Given the description of an element on the screen output the (x, y) to click on. 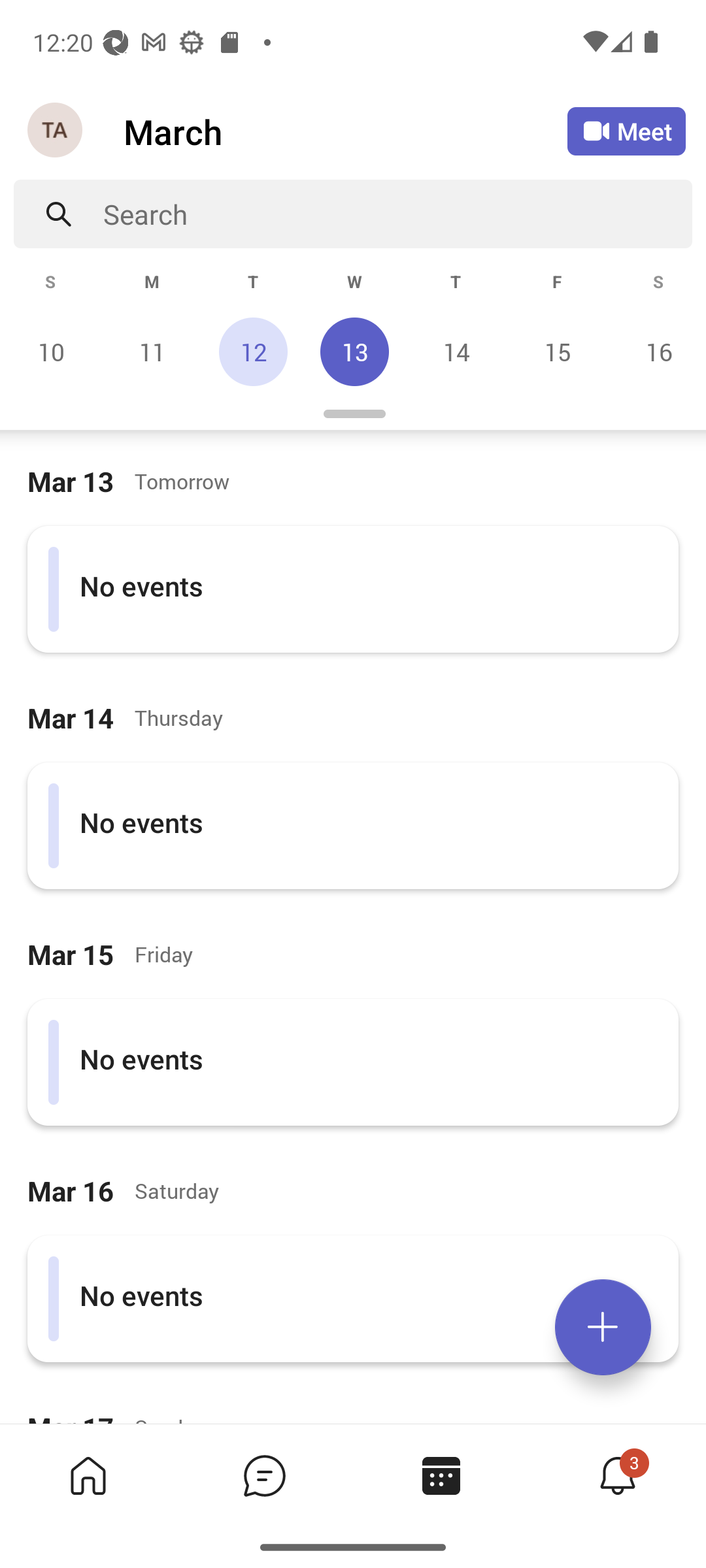
Navigation (56, 130)
Meet Meet now or join with an ID (626, 130)
March March Calendar Agenda View (345, 131)
Search (397, 213)
Sunday, March 10 10 (50, 351)
Monday, March 11 11 (151, 351)
Tuesday, March 12, Today 12 (253, 351)
Wednesday, March 13, Selected 13 (354, 351)
Thursday, March 14 14 (455, 351)
Friday, March 15 15 (556, 351)
Saturday, March 16 16 (656, 351)
Expand meetings menu (602, 1327)
Home tab,1 of 4, not selected (88, 1475)
Chat tab,2 of 4, not selected (264, 1475)
Calendar tab, 3 of 4 (441, 1475)
Activity tab,4 of 4, not selected, 3 new 3 (617, 1475)
